Given the description of an element on the screen output the (x, y) to click on. 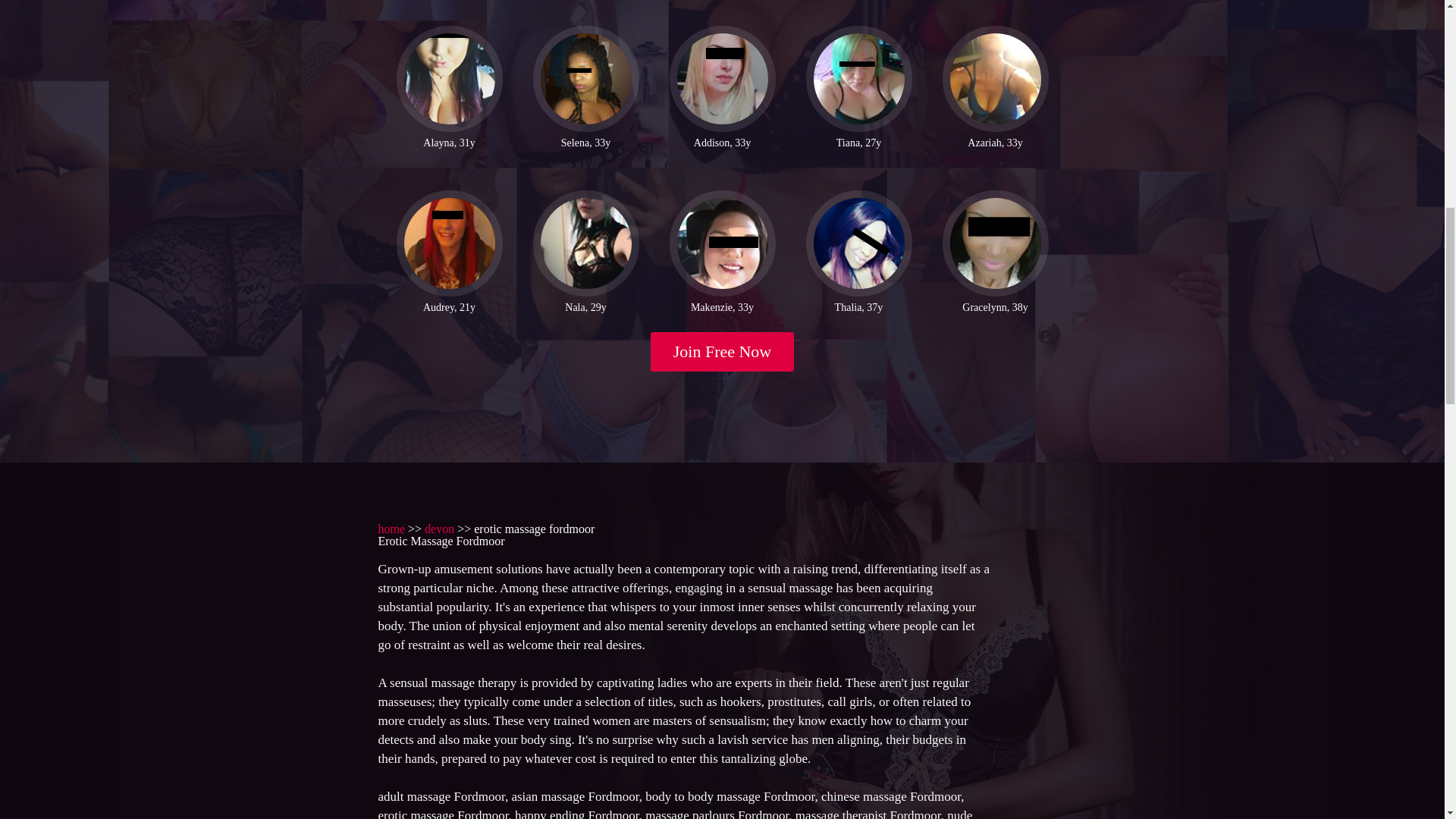
devon (439, 528)
Join (722, 351)
home (390, 528)
Join Free Now (722, 351)
